Given the description of an element on the screen output the (x, y) to click on. 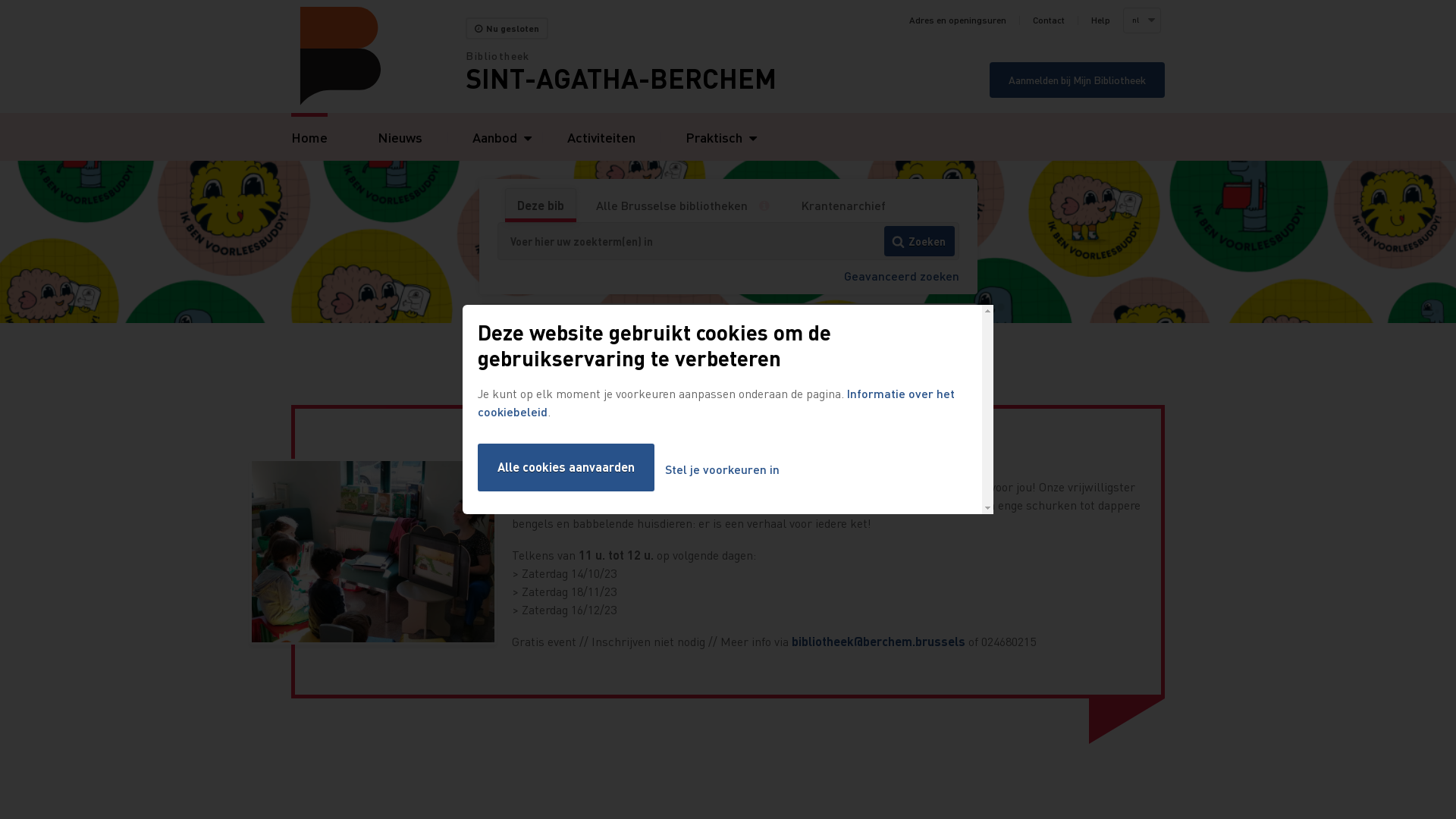
Uitleentermijn verlengen Element type: text (603, 322)
Activiteiten Element type: text (601, 136)
Nieuws Element type: text (399, 136)
Openingsuren opzoeken Element type: text (856, 322)
nl Element type: text (1140, 20)
Krantenarchief Element type: text (843, 205)
Informatie over het cookiebeleid Element type: text (715, 402)
Geavanceerd zoeken Element type: text (900, 275)
Help Element type: text (1100, 20)
Alle Brusselse bibliotheken Element type: text (670, 205)
Zoeken Element type: text (919, 240)
bibliotheek@berchem.brussels Element type: text (878, 641)
Home Element type: text (309, 136)
Nu gesloten Element type: text (506, 28)
Stel je voorkeuren in Element type: text (722, 469)
Home Element type: hover (378, 55)
Contact Element type: text (1048, 20)
Overslaan en naar zoeken gaan Element type: text (0, 0)
Meer informatie Element type: hover (769, 205)
Alle cookies aanvaarden Element type: text (565, 466)
Deze bib Element type: text (539, 205)
Adres en openingsuren Element type: text (957, 20)
Aanmelden bij Mijn Bibliotheek Element type: text (1076, 79)
